Given the description of an element on the screen output the (x, y) to click on. 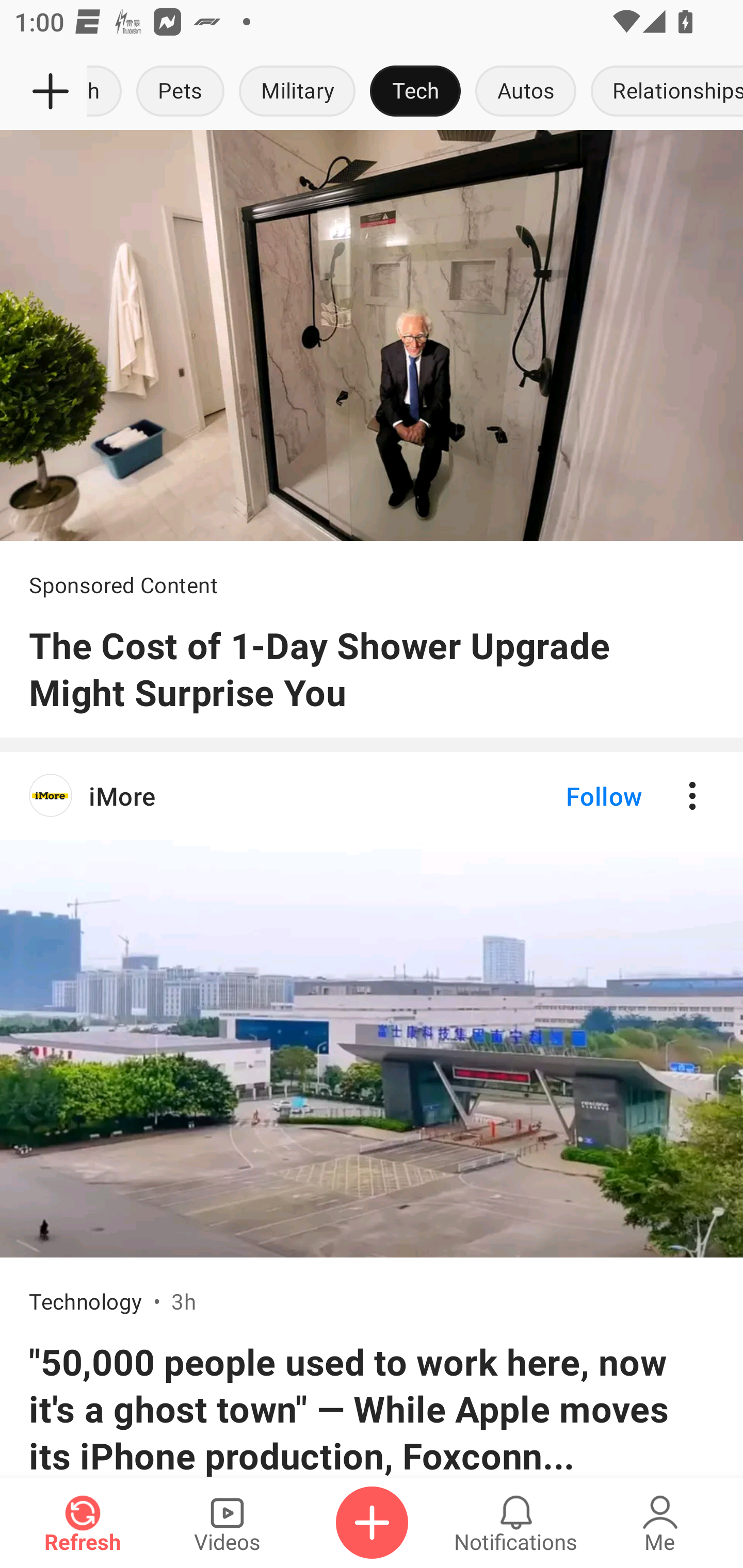
Pets (180, 91)
Military (296, 91)
Tech (415, 91)
Autos (525, 91)
Relationships (663, 91)
iMore Follow (371, 796)
Follow (569, 796)
Videos (227, 1522)
Notifications (516, 1522)
Me (659, 1522)
